Given the description of an element on the screen output the (x, y) to click on. 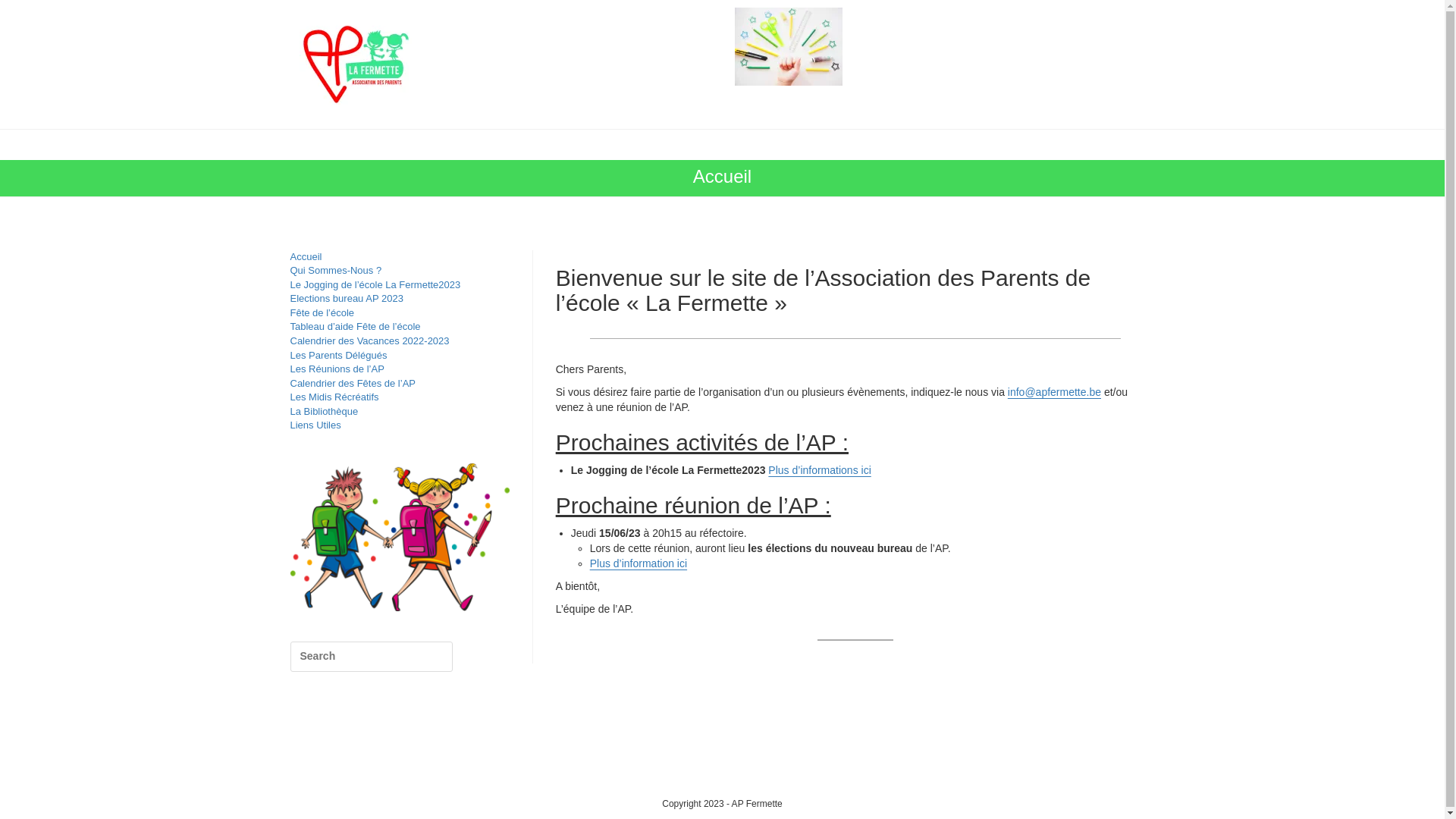
1335ac8161b53282c0b610864dac50c3 Element type: hover (788, 46)
Accueil Element type: text (305, 256)
Qui Sommes-Nous ? Element type: text (335, 270)
Calendrier des Vacances 2022-2023 Element type: text (368, 340)
Liens Utiles Element type: text (314, 424)
info@apfermette.be Element type: text (1054, 391)
Elections bureau AP 2023 Element type: text (345, 298)
